Given the description of an element on the screen output the (x, y) to click on. 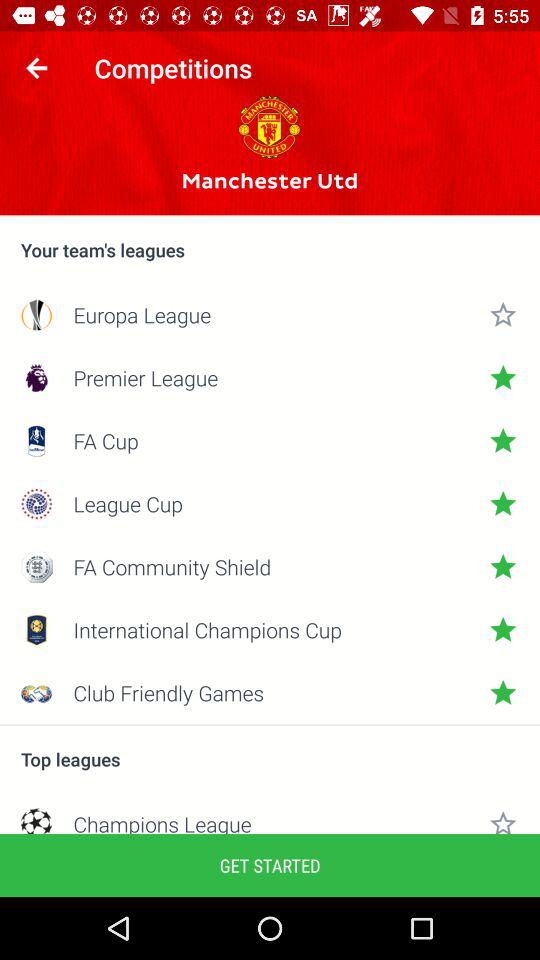
press the icon above the fa cup icon (269, 377)
